Given the description of an element on the screen output the (x, y) to click on. 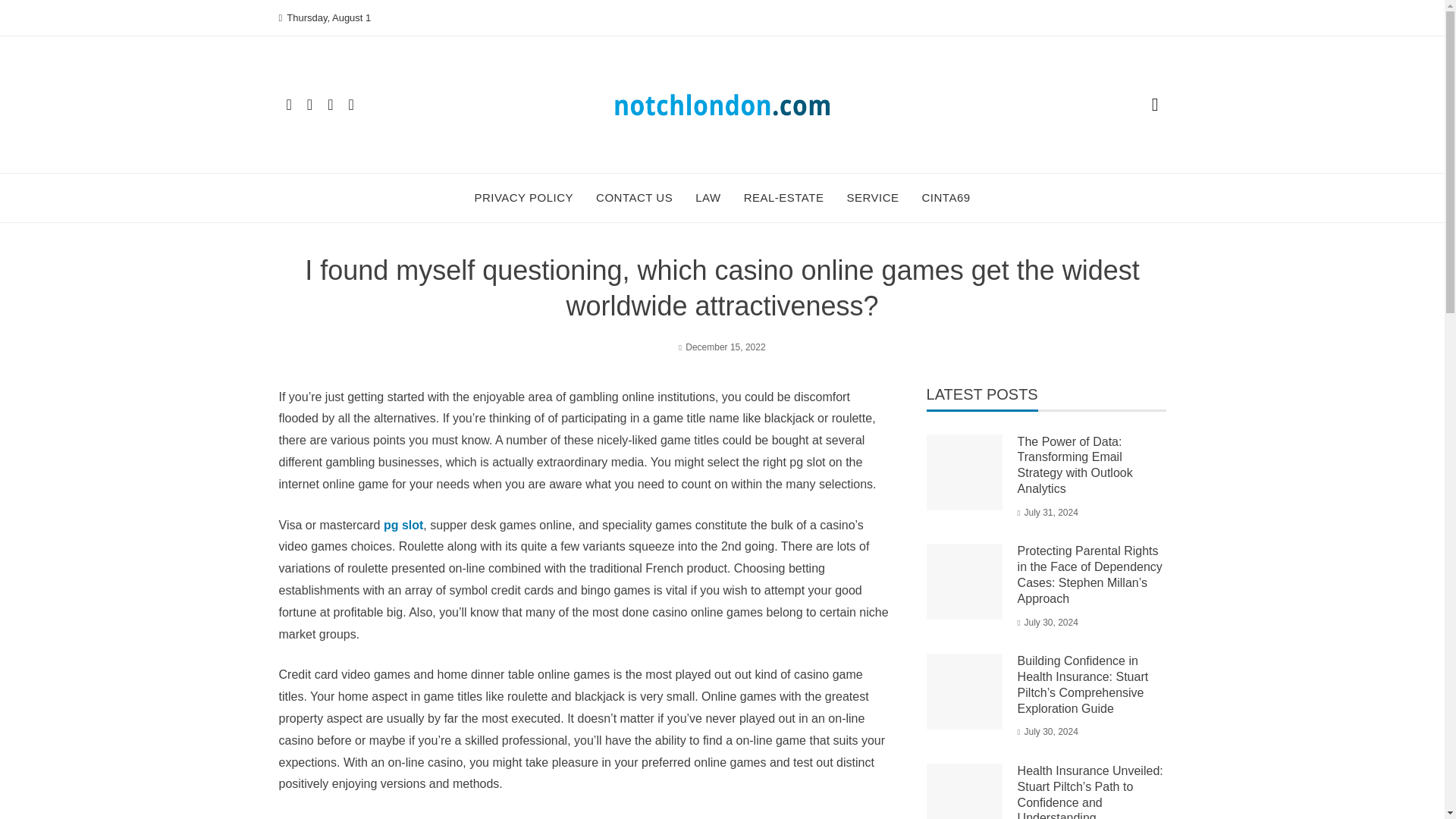
REAL-ESTATE (784, 197)
LAW (707, 197)
CONTACT US (633, 197)
CINTA69 (946, 197)
PRIVACY POLICY (523, 197)
SERVICE (871, 197)
pg slot (403, 524)
